Given the description of an element on the screen output the (x, y) to click on. 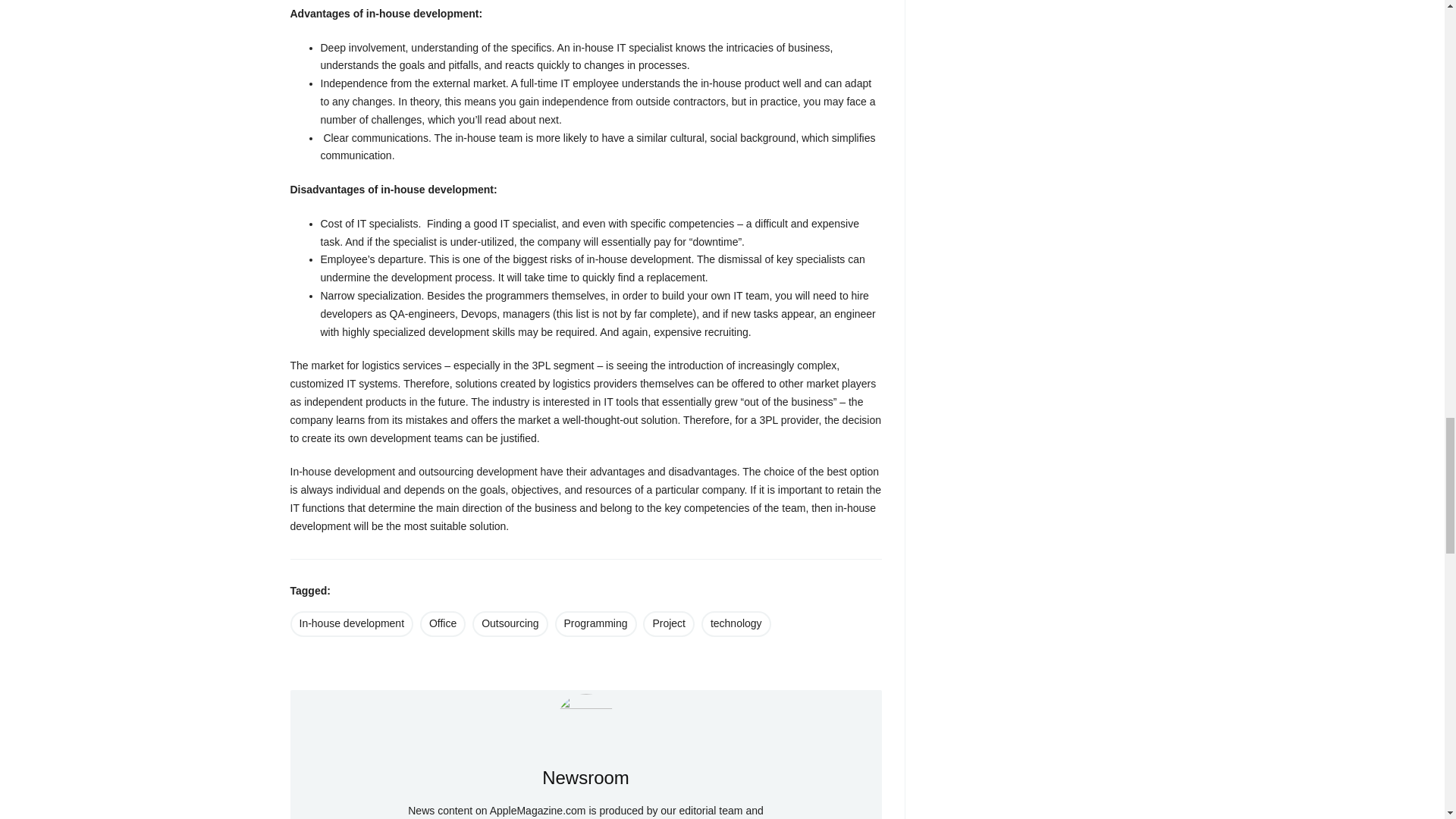
In-house development (351, 623)
Project (668, 623)
Newsroom (584, 777)
Newsroom (584, 777)
Office (442, 623)
technology (736, 623)
Programming (595, 623)
Newsroom (584, 723)
Outsourcing (509, 623)
